Given the description of an element on the screen output the (x, y) to click on. 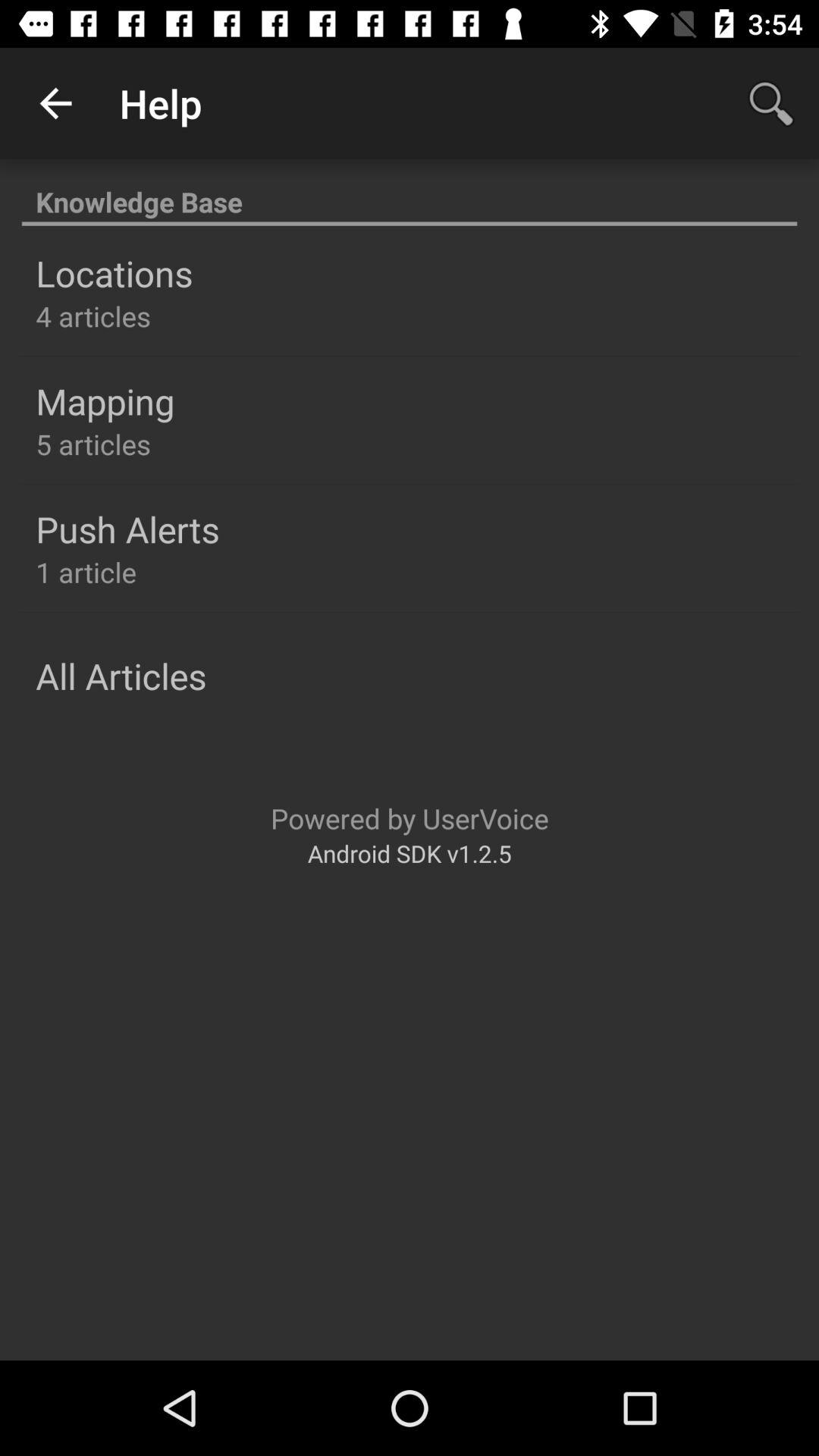
jump to the locations item (113, 273)
